Given the description of an element on the screen output the (x, y) to click on. 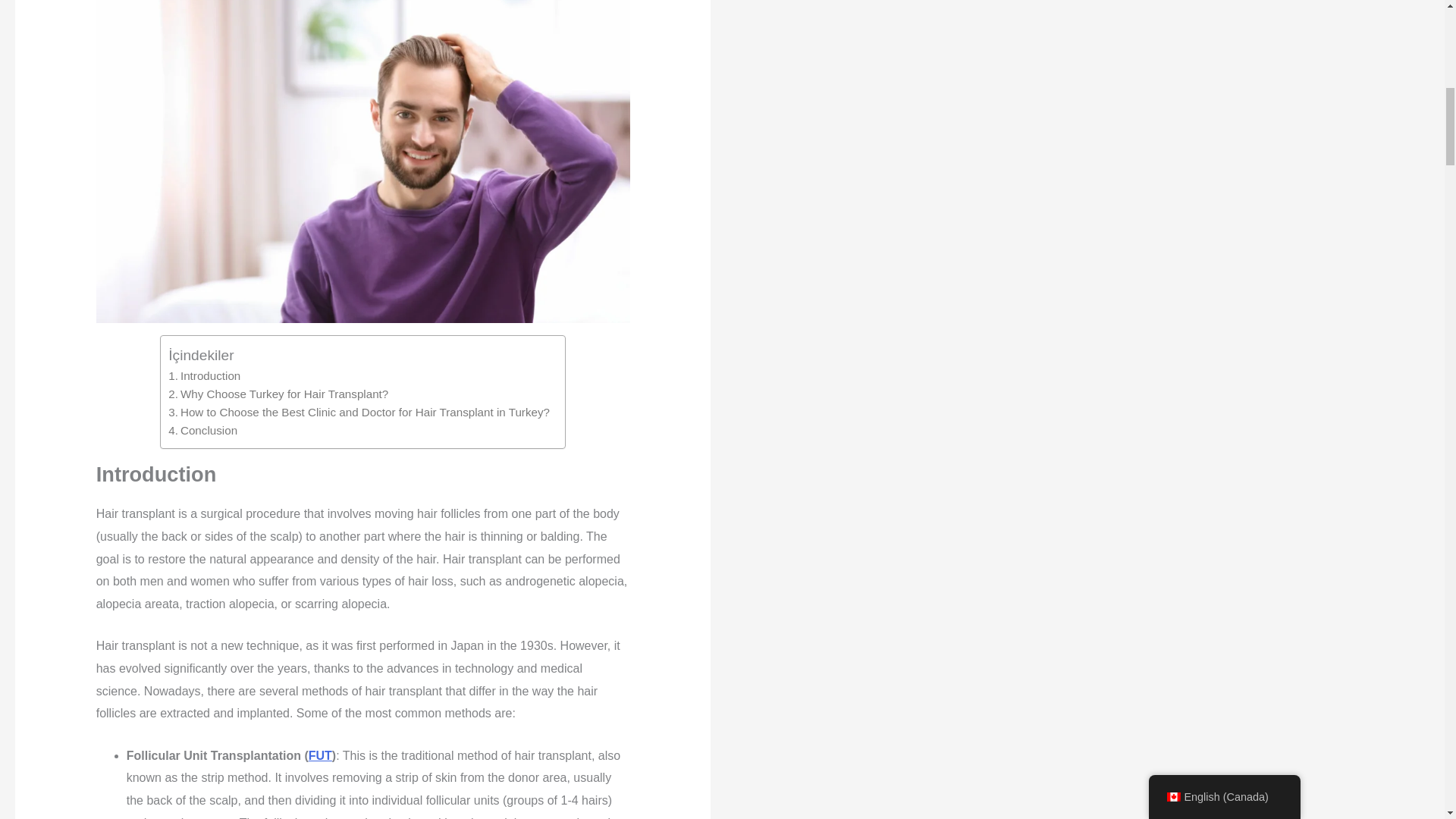
Why Choose Turkey for Hair Transplant? (278, 393)
Introduction (204, 375)
FUT (319, 755)
Why Choose Turkey for Hair Transplant? (278, 393)
Conclusion (202, 430)
FUT (319, 755)
Introduction (204, 375)
Conclusion (202, 430)
